Given the description of an element on the screen output the (x, y) to click on. 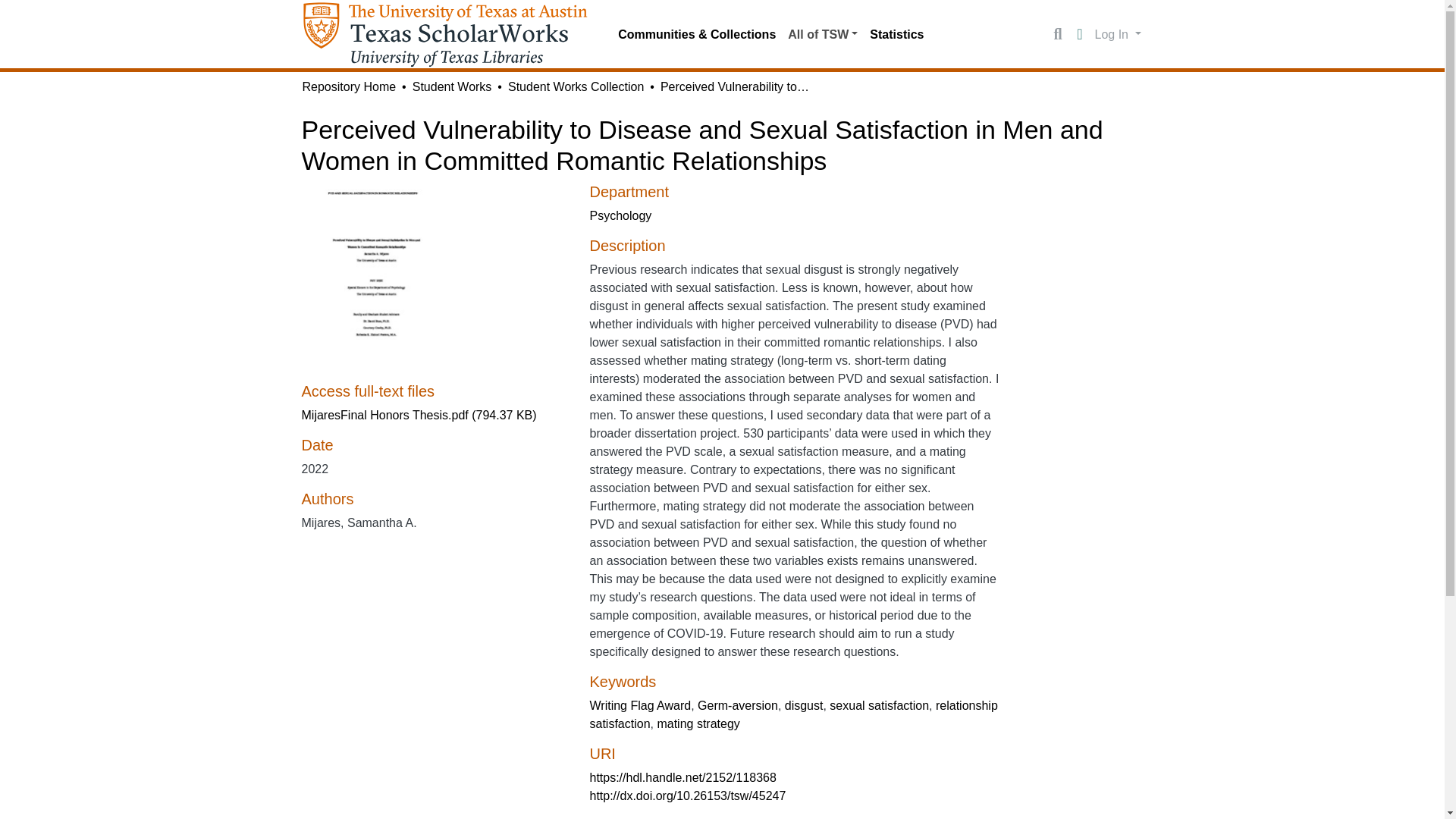
Statistics (896, 34)
Student Works (452, 86)
Statistics (896, 34)
All of TSW (822, 34)
disgust (804, 705)
Log In (1117, 33)
Search (1057, 34)
Psychology (619, 215)
Writing Flag Award (639, 705)
Student Works Collection (575, 86)
mating strategy (697, 723)
Repository Home (348, 86)
Germ-aversion (737, 705)
relationship satisfaction (793, 714)
Language switch (1079, 34)
